Given the description of an element on the screen output the (x, y) to click on. 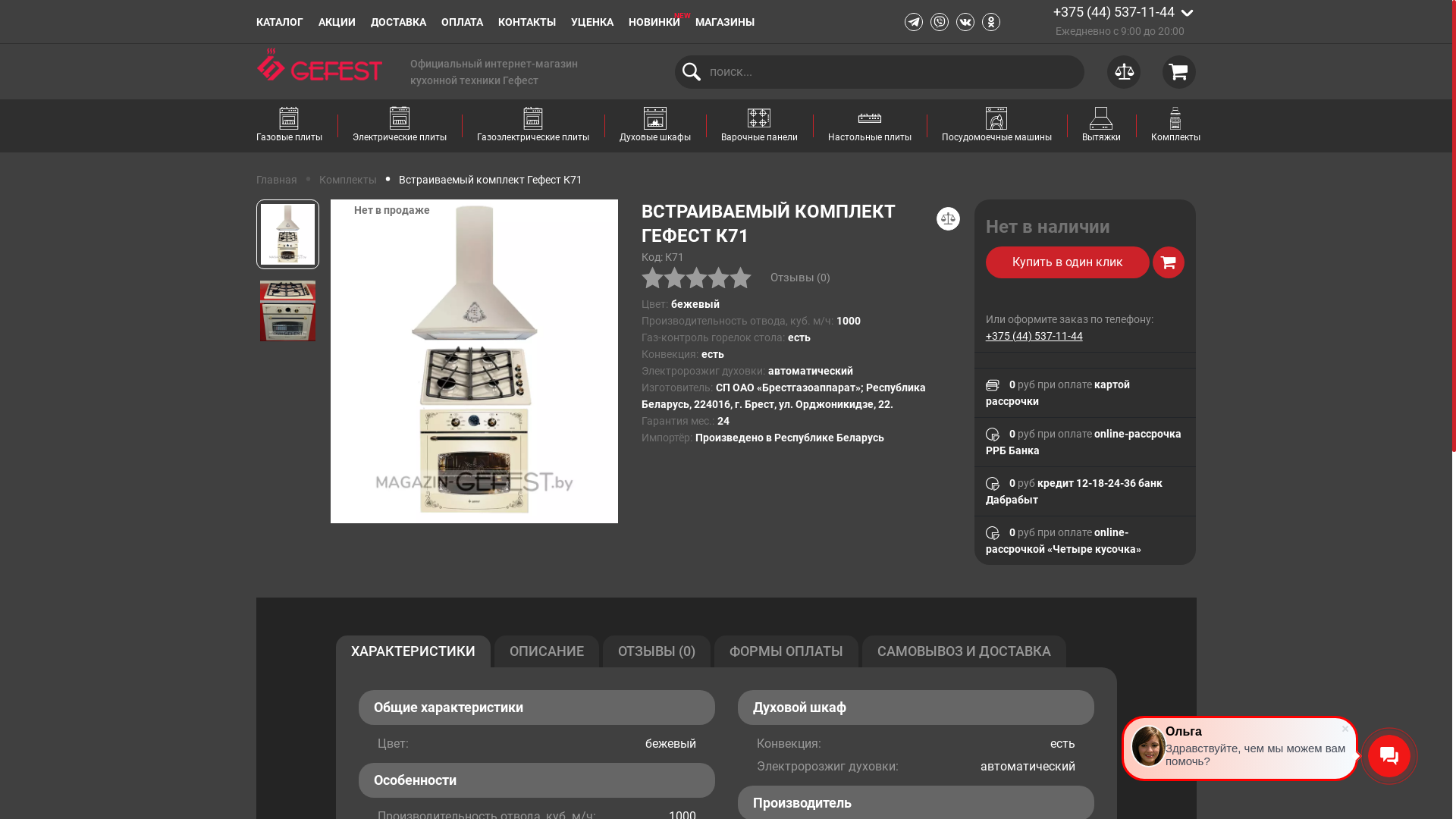
+375 (44) 537-11-44 Element type: text (1112, 11)
+375 (44) 537-11-44 Element type: text (1033, 335)
